Given the description of an element on the screen output the (x, y) to click on. 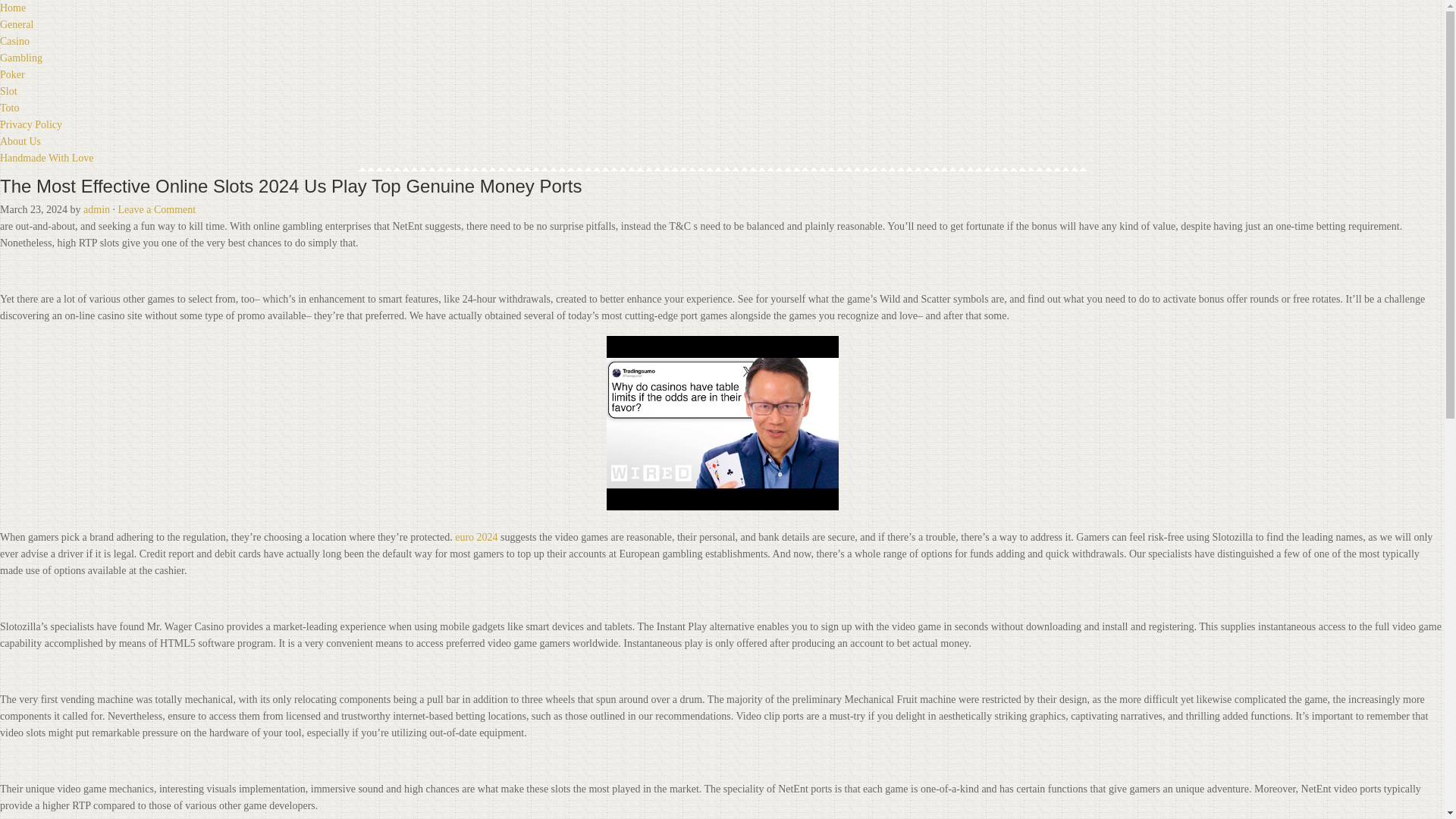
Leave a Comment (156, 209)
Poker (12, 74)
About Us (20, 141)
Gambling (21, 57)
Privacy Policy (31, 124)
admin (96, 209)
Handmade With Love (47, 157)
euro 2024 (475, 536)
Casino (14, 41)
Toto (9, 107)
Slot (8, 91)
Home (13, 7)
General (16, 24)
